Given the description of an element on the screen output the (x, y) to click on. 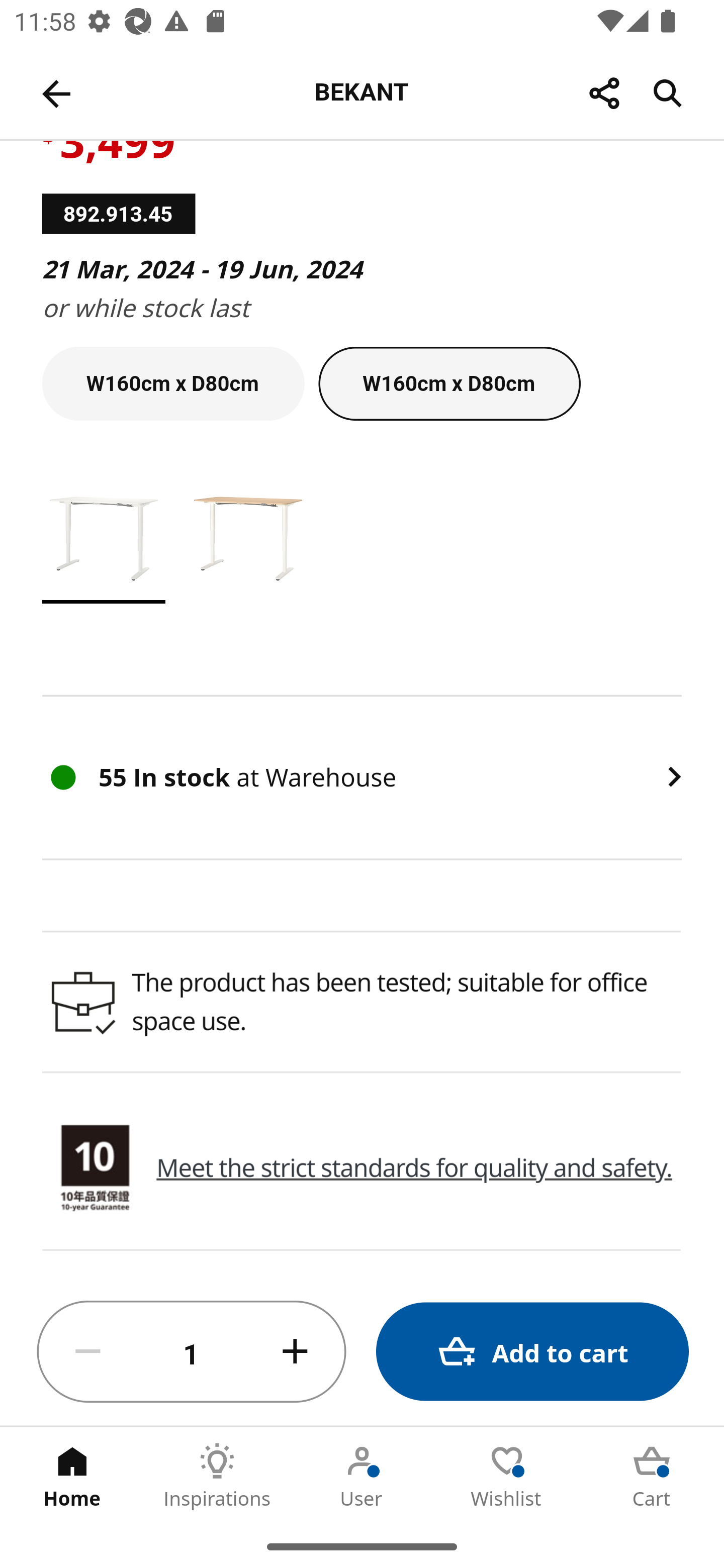
W160cm x D80cm (172, 383)
W160cm x D80cm (449, 383)
55 In stock at Warehouse (361, 776)
desk-table-storage-guarantee (94, 1168)
Meet the strict standards for quality and safety. (399, 1167)
Add to cart (531, 1352)
1 (191, 1352)
Home
Tab 1 of 5 (72, 1476)
Inspirations
Tab 2 of 5 (216, 1476)
User
Tab 3 of 5 (361, 1476)
Wishlist
Tab 4 of 5 (506, 1476)
Cart
Tab 5 of 5 (651, 1476)
